Given the description of an element on the screen output the (x, y) to click on. 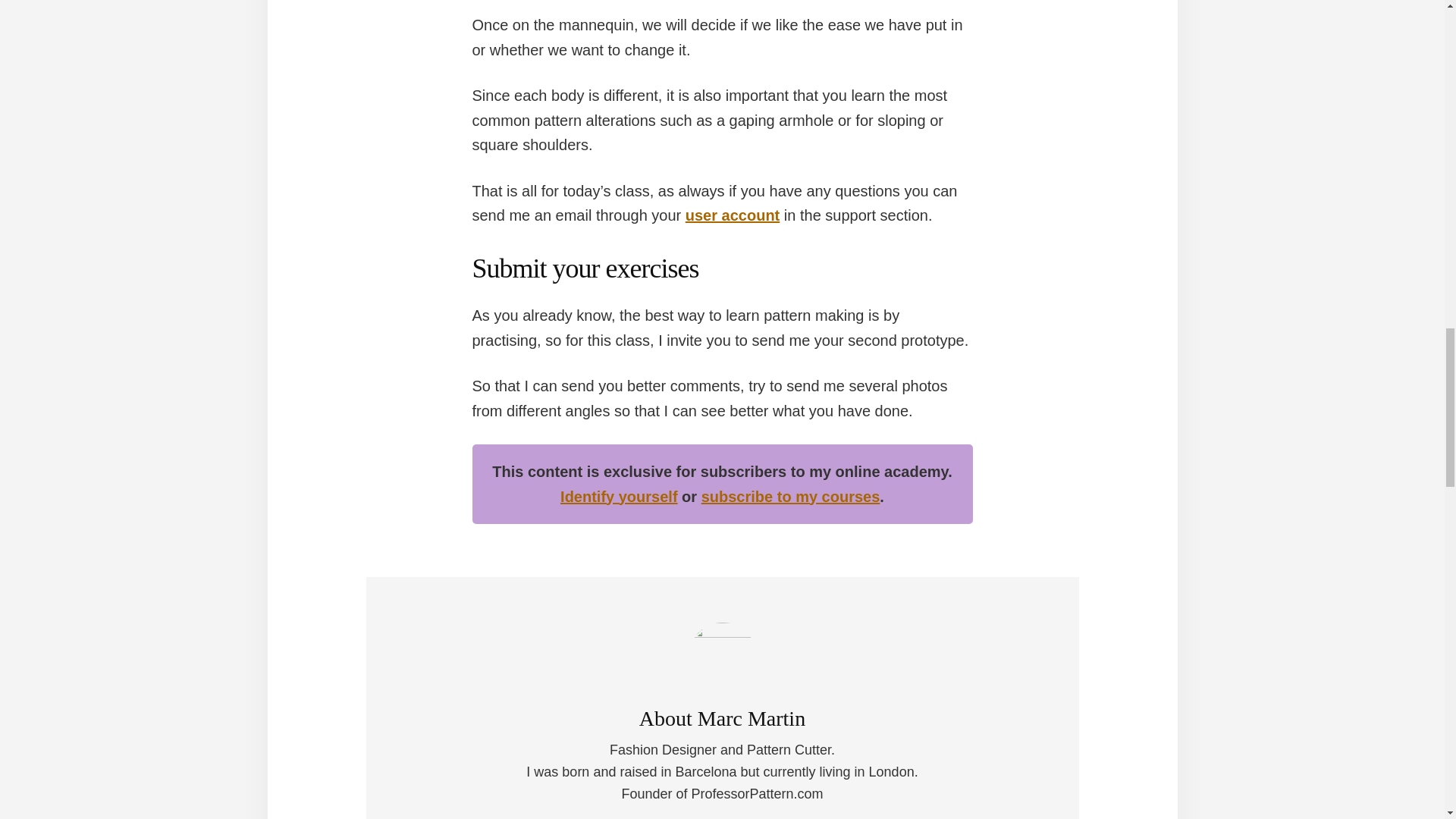
subscribe to my courses (790, 496)
user account (731, 215)
Identify yourself (618, 496)
